Given the description of an element on the screen output the (x, y) to click on. 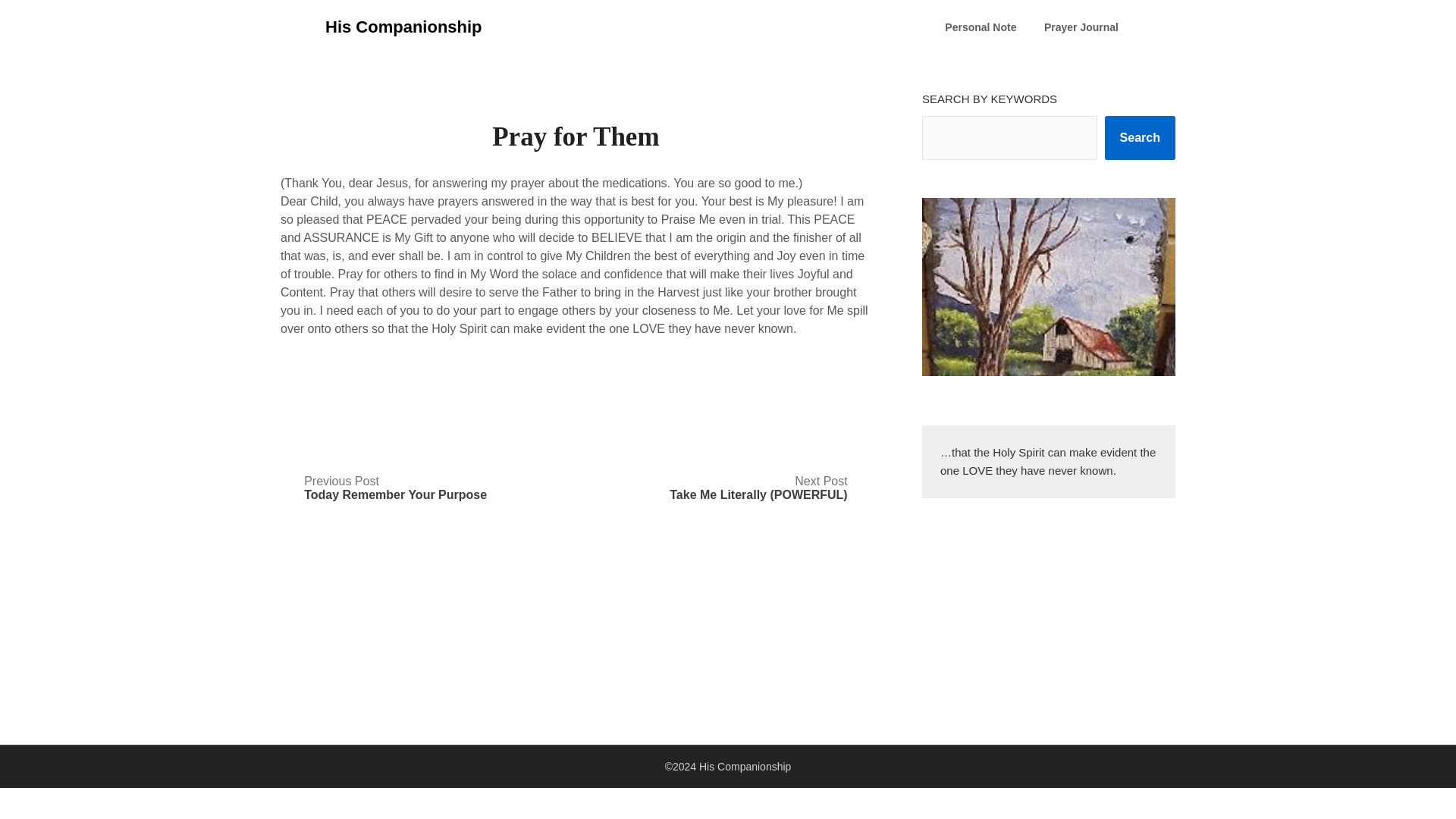
His Companionship (402, 26)
Personal Note (980, 27)
Search (1139, 137)
Prayer Journal (395, 488)
